Given the description of an element on the screen output the (x, y) to click on. 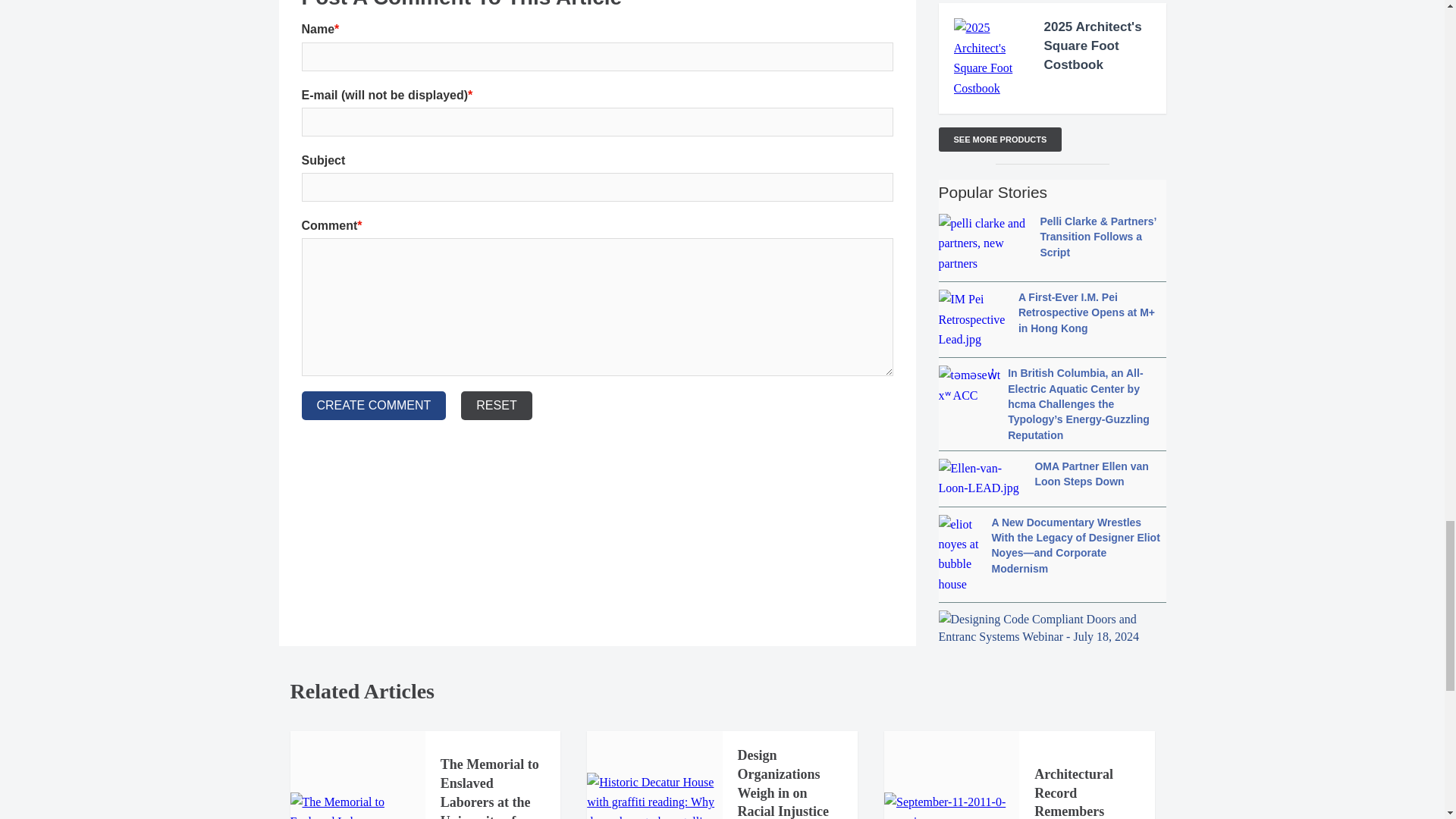
Decatur House (654, 796)
OMA Partner Ellen van Loon Steps Down (1052, 478)
Reset (496, 405)
Memorial-to-Enslaved-Laborers-01-B.jpg (357, 805)
Create Comment (373, 405)
